Given the description of an element on the screen output the (x, y) to click on. 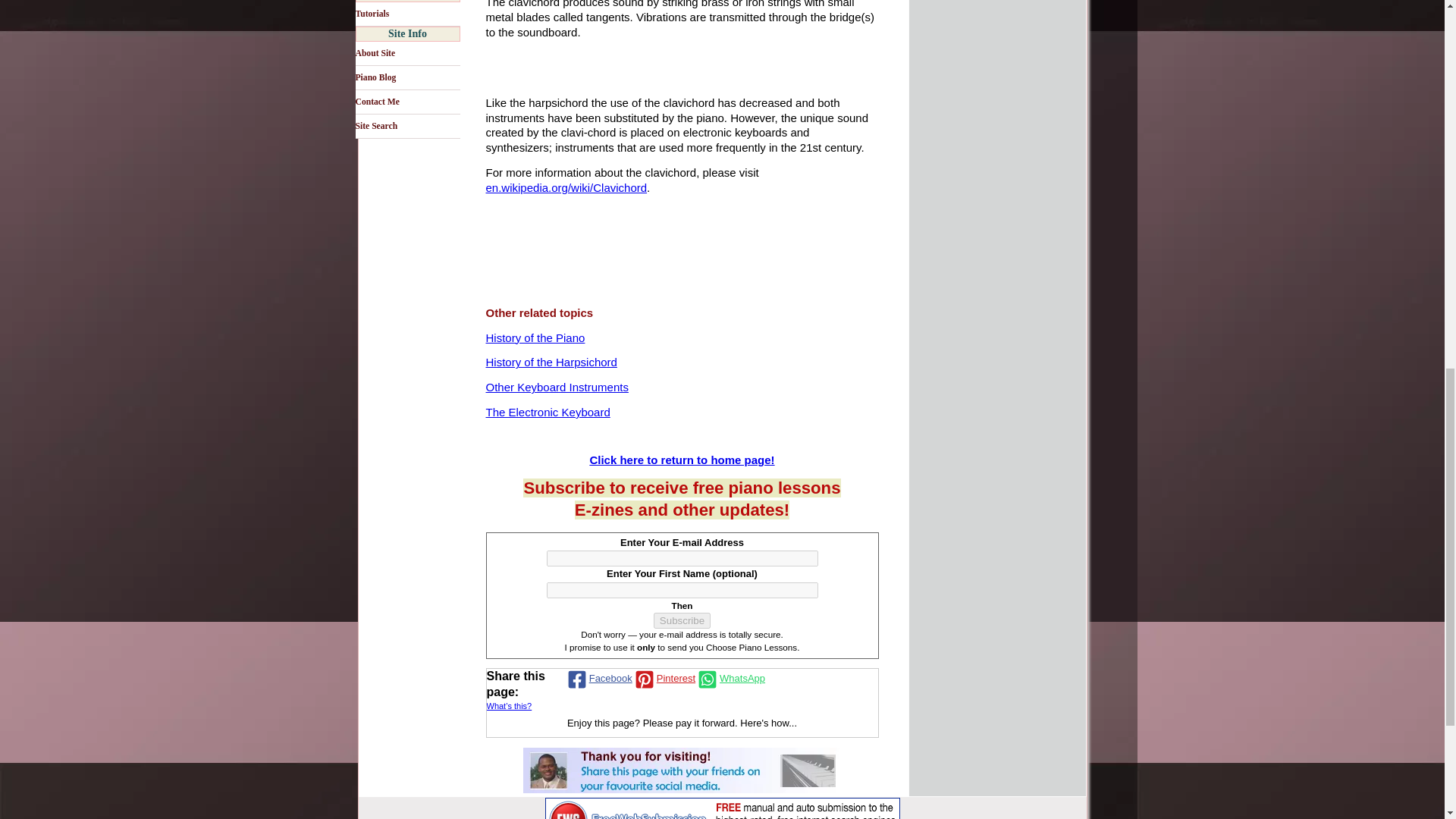
Advertisement (971, 7)
Tutorials (407, 14)
Piano Blog (407, 78)
About Site (407, 53)
Other Keyboard Instruments (555, 387)
The Electronic Keyboard (547, 412)
Site Search (407, 126)
Facebook (597, 679)
WhatsApp (730, 679)
Pinterest (663, 679)
History of the Piano (534, 337)
History of the Harpsichord (549, 362)
Click here to return to home page! (681, 460)
Subscribe (681, 620)
Contact Me (407, 102)
